Given the description of an element on the screen output the (x, y) to click on. 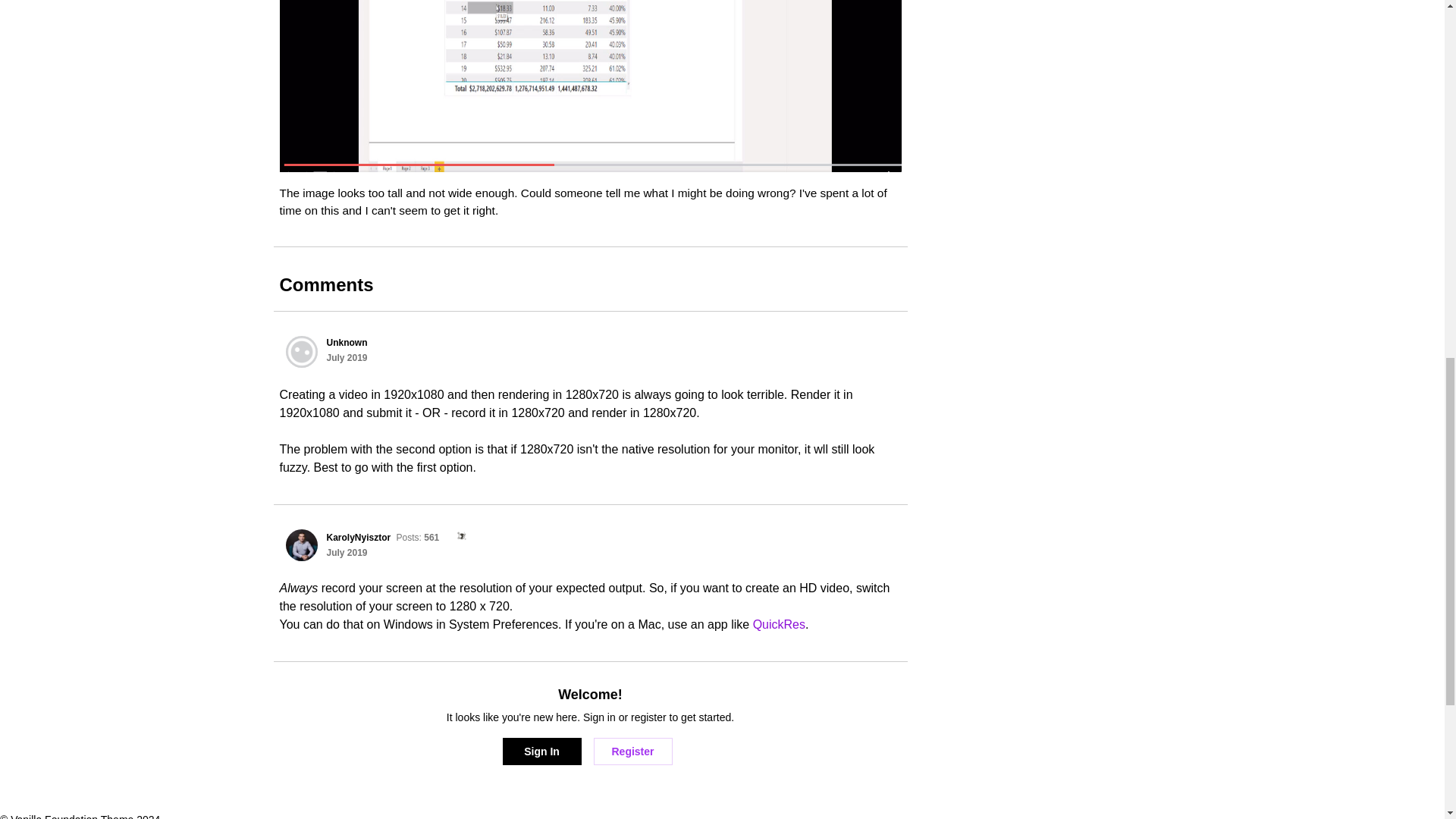
Unknown (301, 351)
Sign In (541, 750)
Visionary (456, 537)
Register (631, 750)
Sign In (541, 750)
July 2019 (346, 552)
KarolyNyisztor (358, 537)
July 30, 2019 9:06AM (346, 357)
QuickRes (778, 624)
Unknown (346, 342)
